Given the description of an element on the screen output the (x, y) to click on. 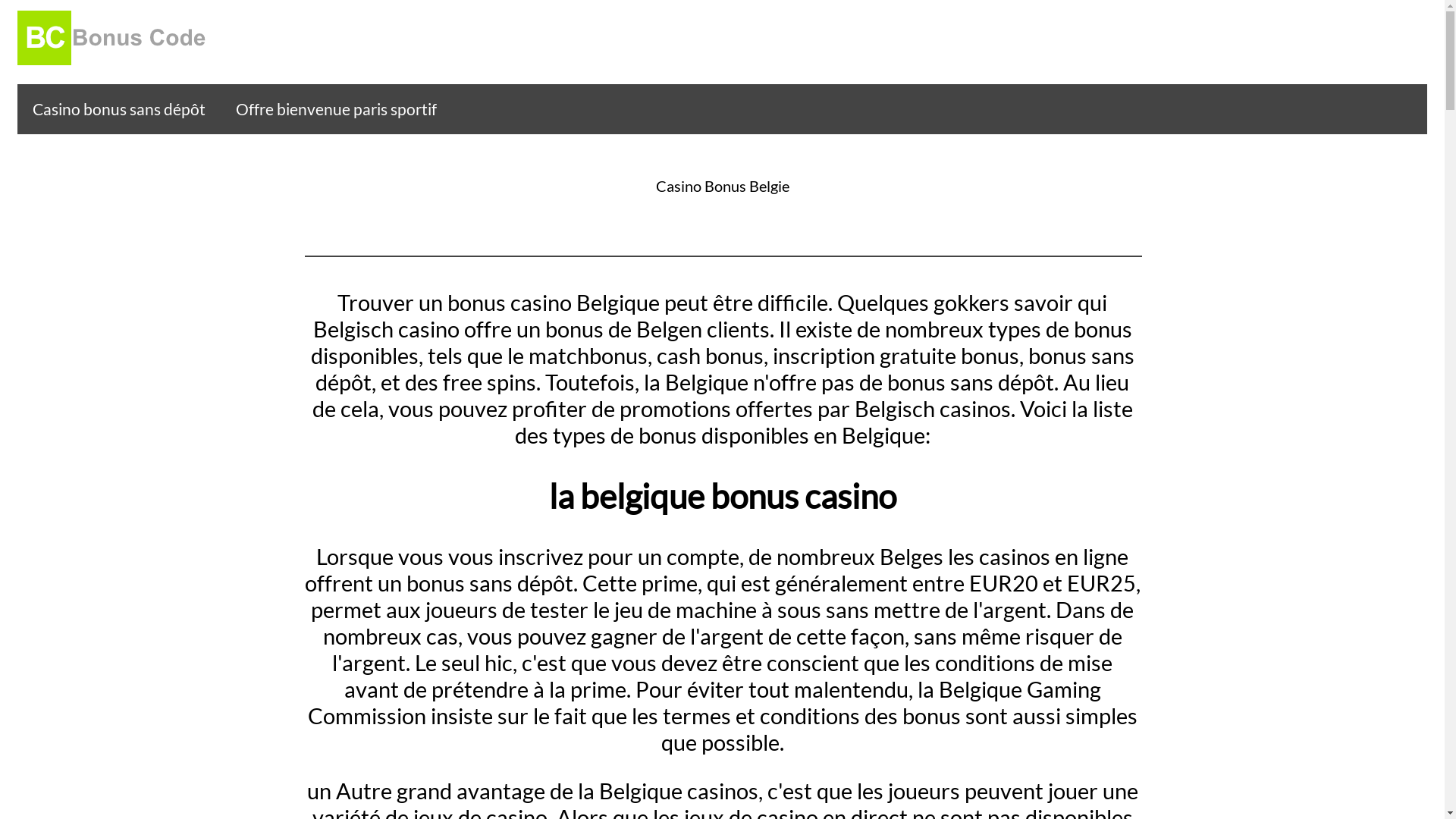
Offre bienvenue paris sportif Element type: text (335, 109)
